Given the description of an element on the screen output the (x, y) to click on. 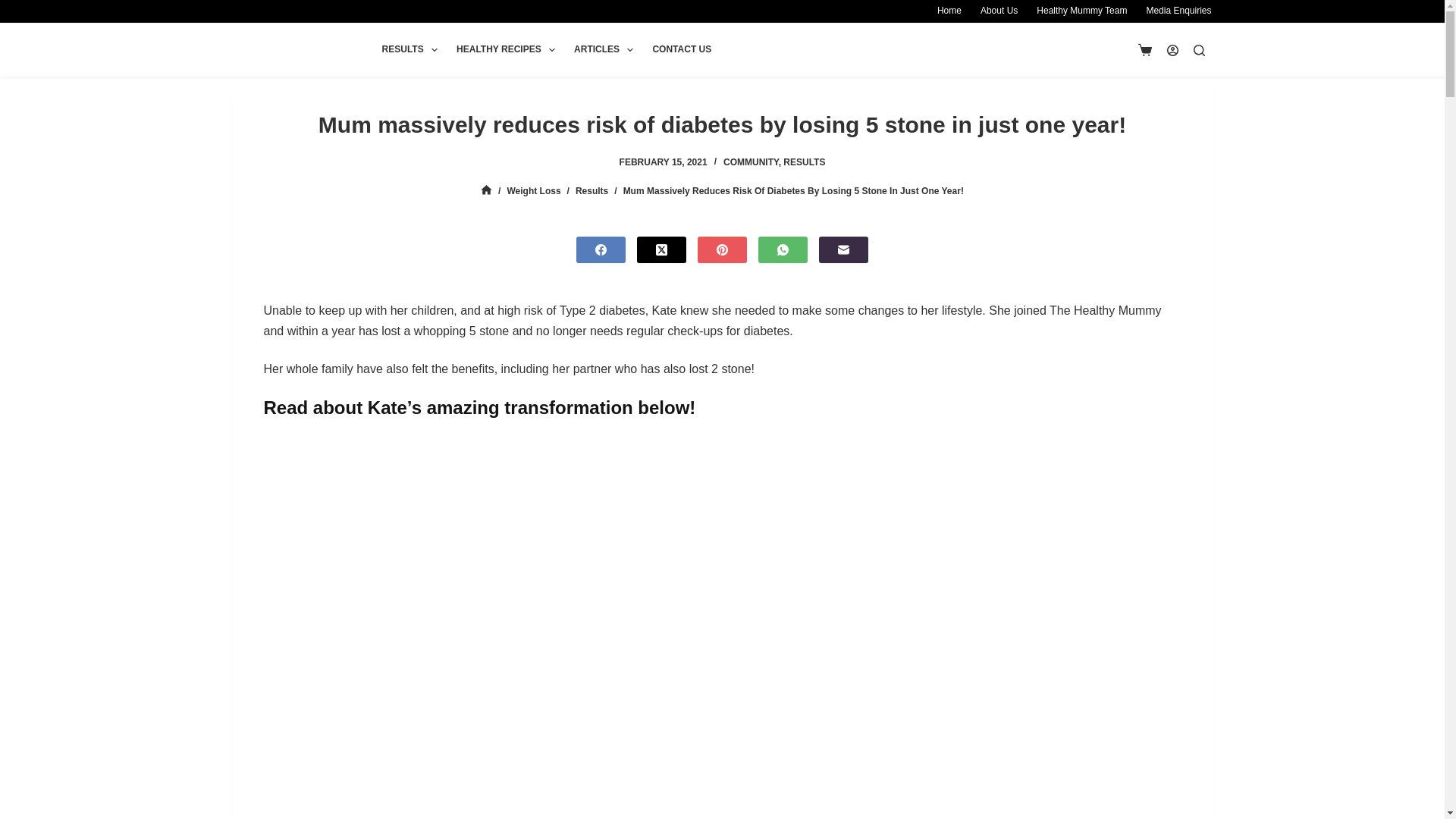
Home (949, 11)
Healthy Mummy Team (1082, 11)
RESULTS (409, 49)
Media Enquiries (1174, 11)
HEALTHY RECIPES (505, 49)
About Us (998, 11)
Skip to content (15, 7)
